Given the description of an element on the screen output the (x, y) to click on. 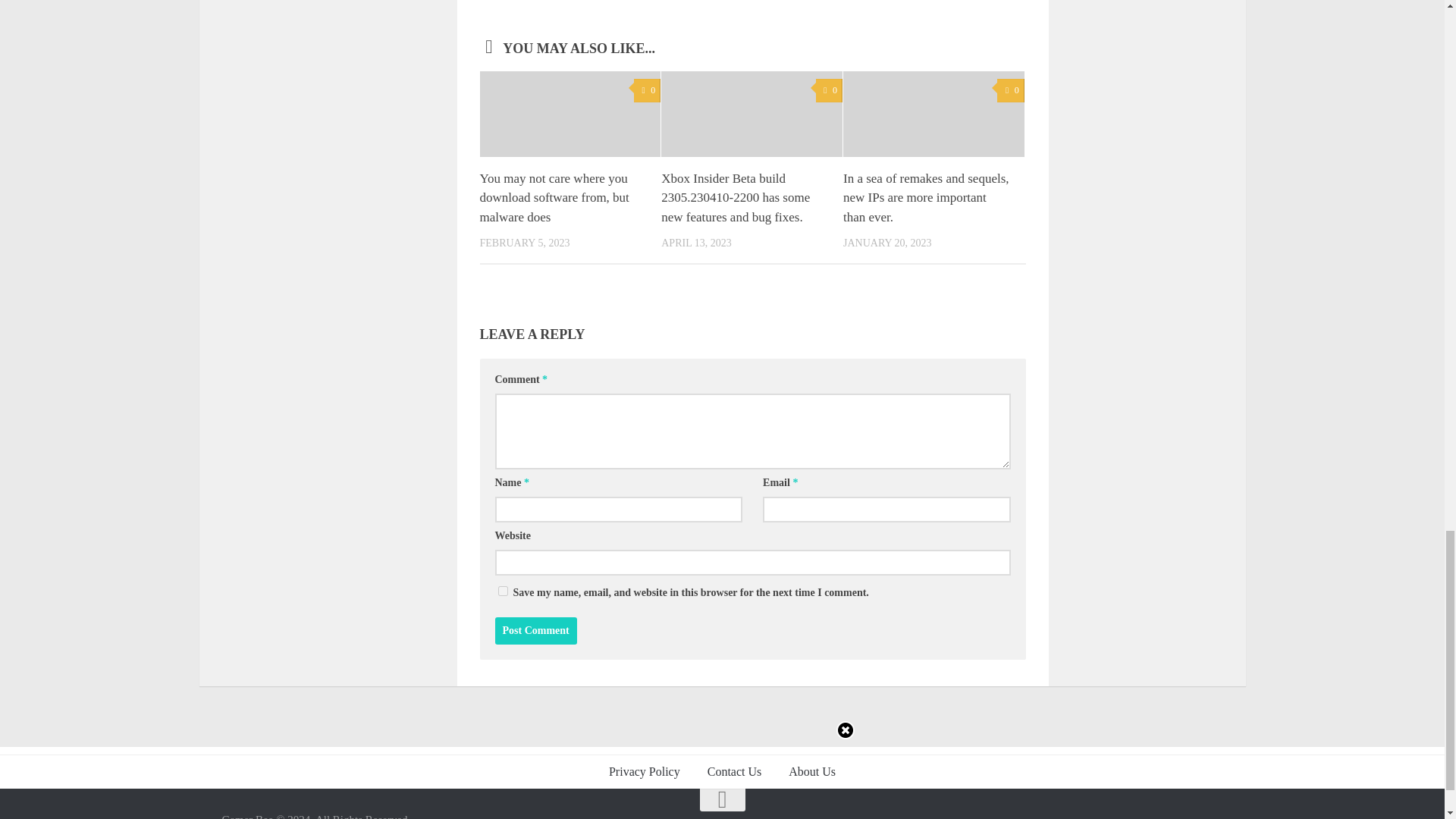
0 (1010, 90)
Post Comment (535, 630)
Contact Us (735, 771)
About Us (811, 771)
Post Comment (535, 630)
Privacy Policy (644, 771)
0 (829, 90)
